Given the description of an element on the screen output the (x, y) to click on. 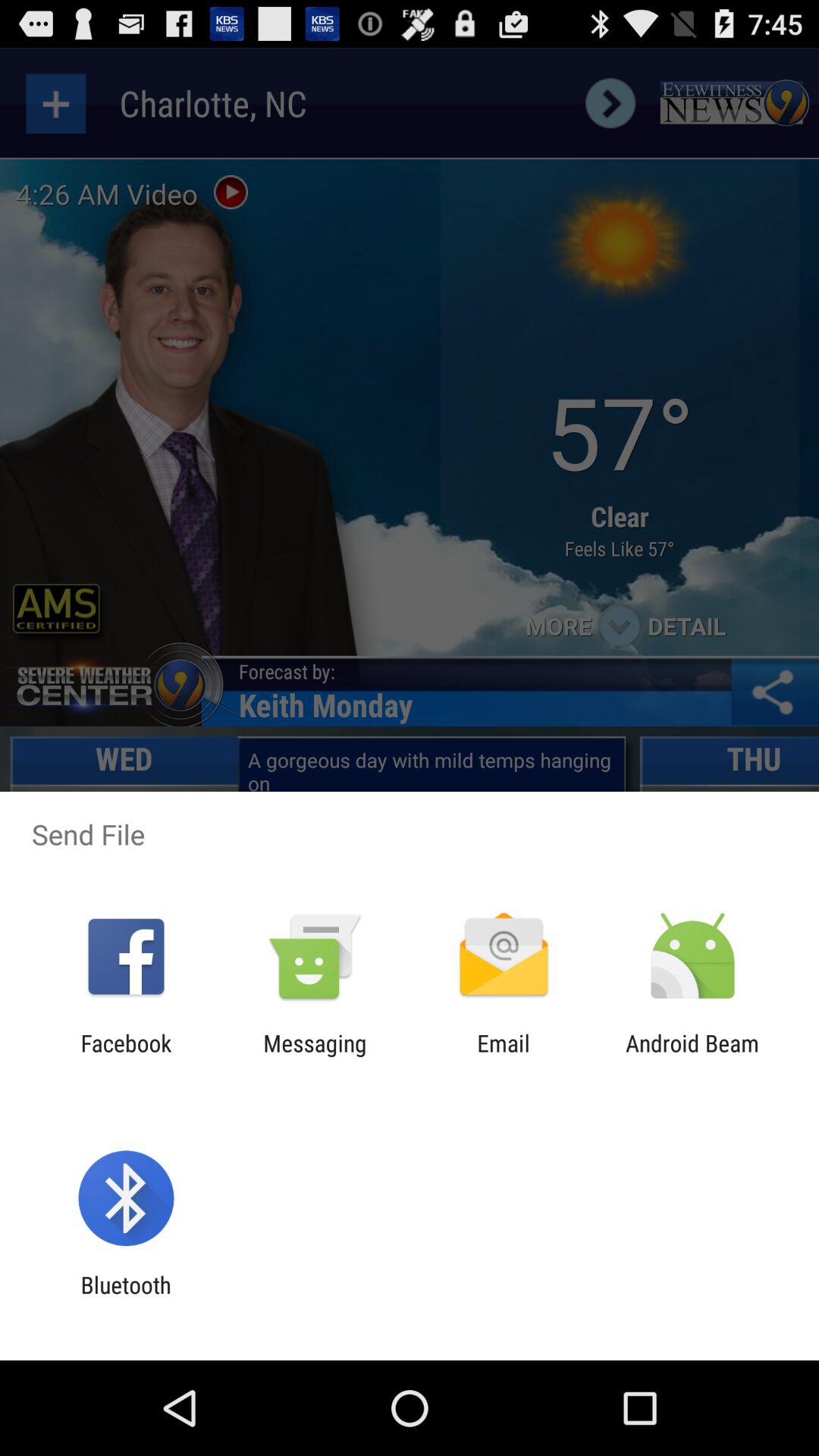
press facebook item (125, 1056)
